Given the description of an element on the screen output the (x, y) to click on. 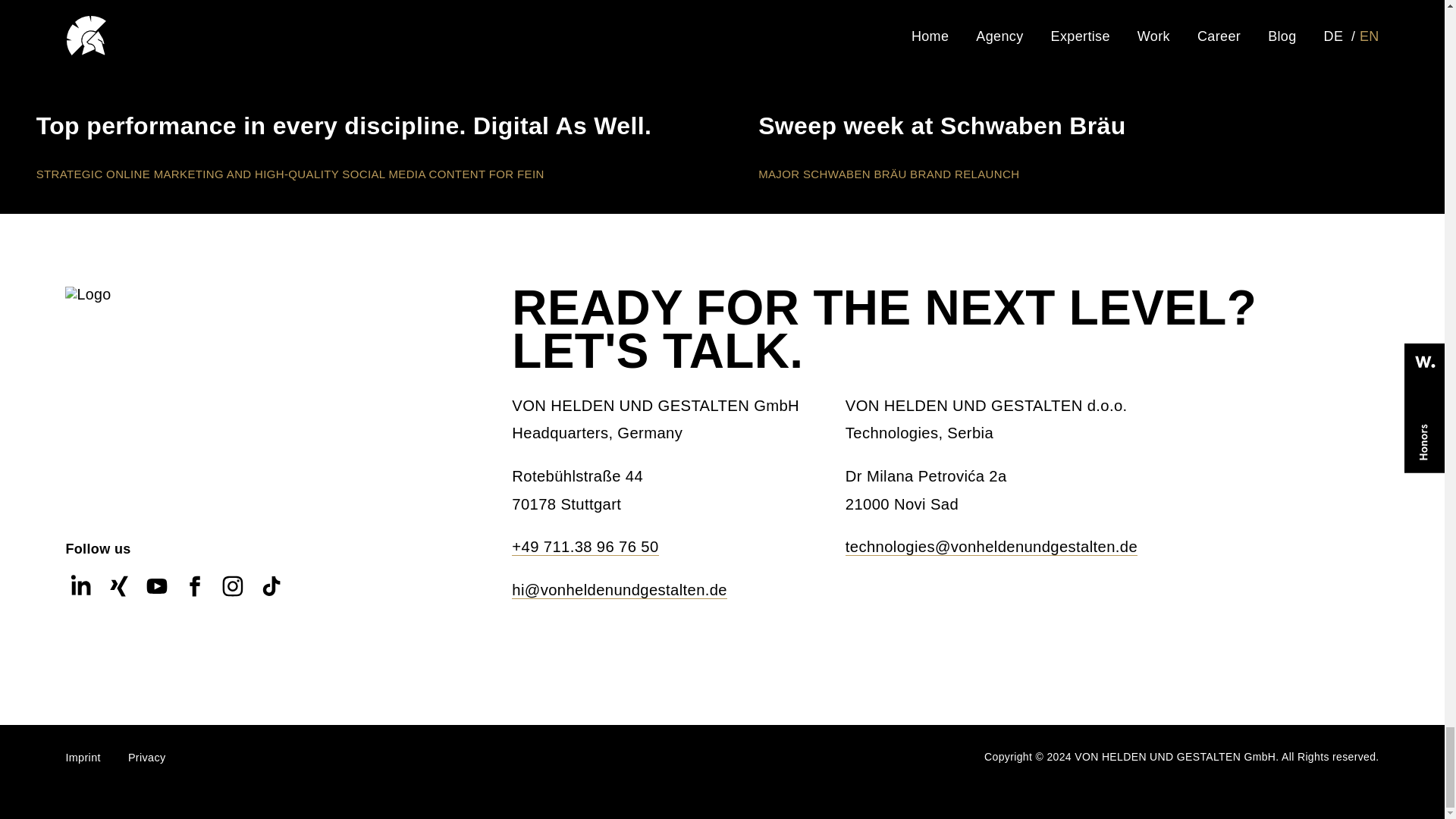
Youtube Von Helden und Gestalten (156, 596)
Xing Von Helden und Gestalten (118, 596)
Instagram Von Helden und Gestalten (232, 596)
Facebook Von Helden und Gestalten (194, 596)
Privacy (146, 757)
Imprint (82, 757)
Tiktok Von Helden und Gestalten (271, 596)
Linkedin Von Helden und Gestalten (80, 596)
